Given the description of an element on the screen output the (x, y) to click on. 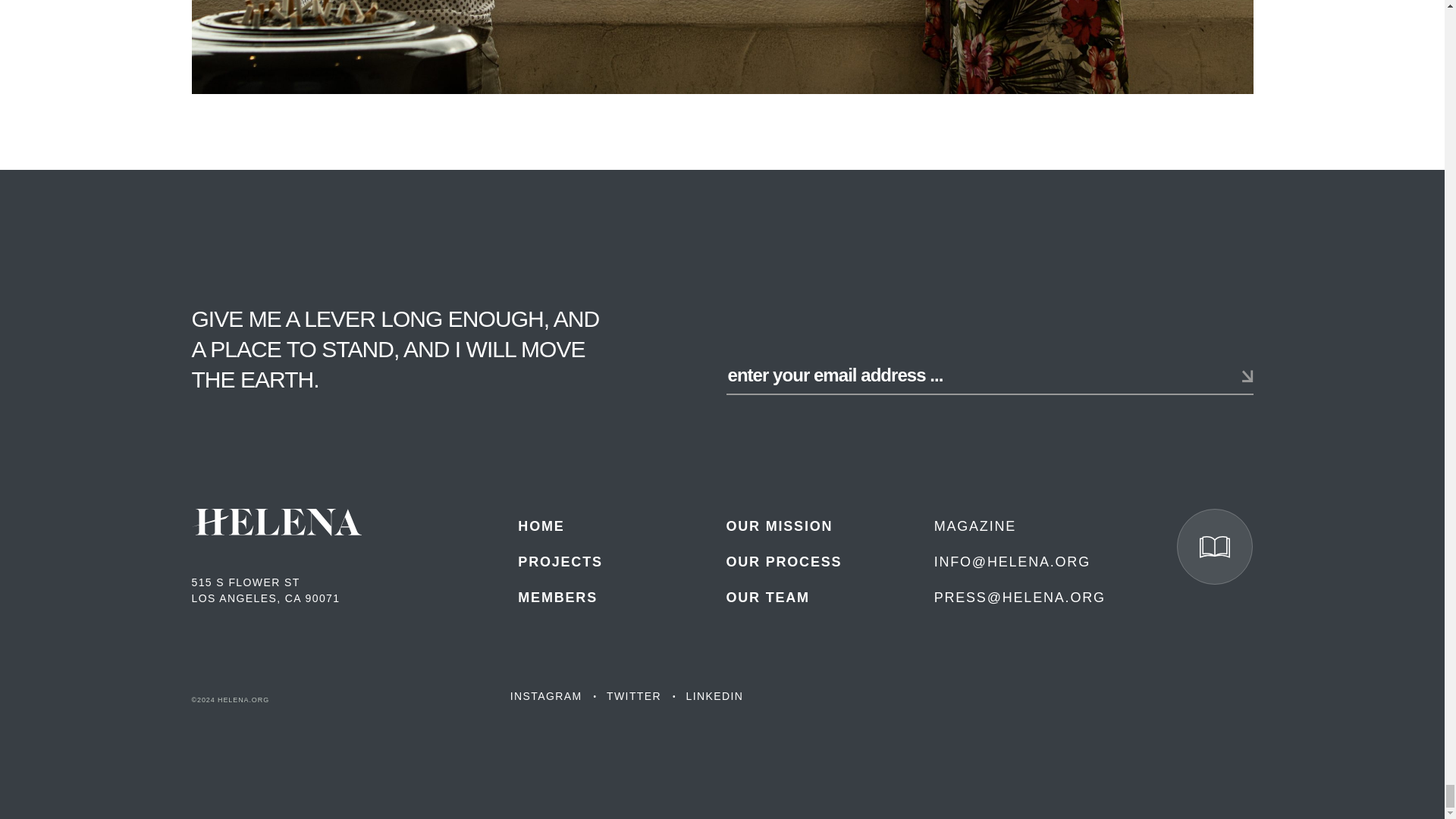
MEMBERS (557, 597)
OUR PROCESS (783, 561)
OUR MISSION (778, 525)
MAGAZINE (975, 525)
PROJECTS (560, 561)
HOME (541, 525)
OUR TEAM (767, 597)
